Given the description of an element on the screen output the (x, y) to click on. 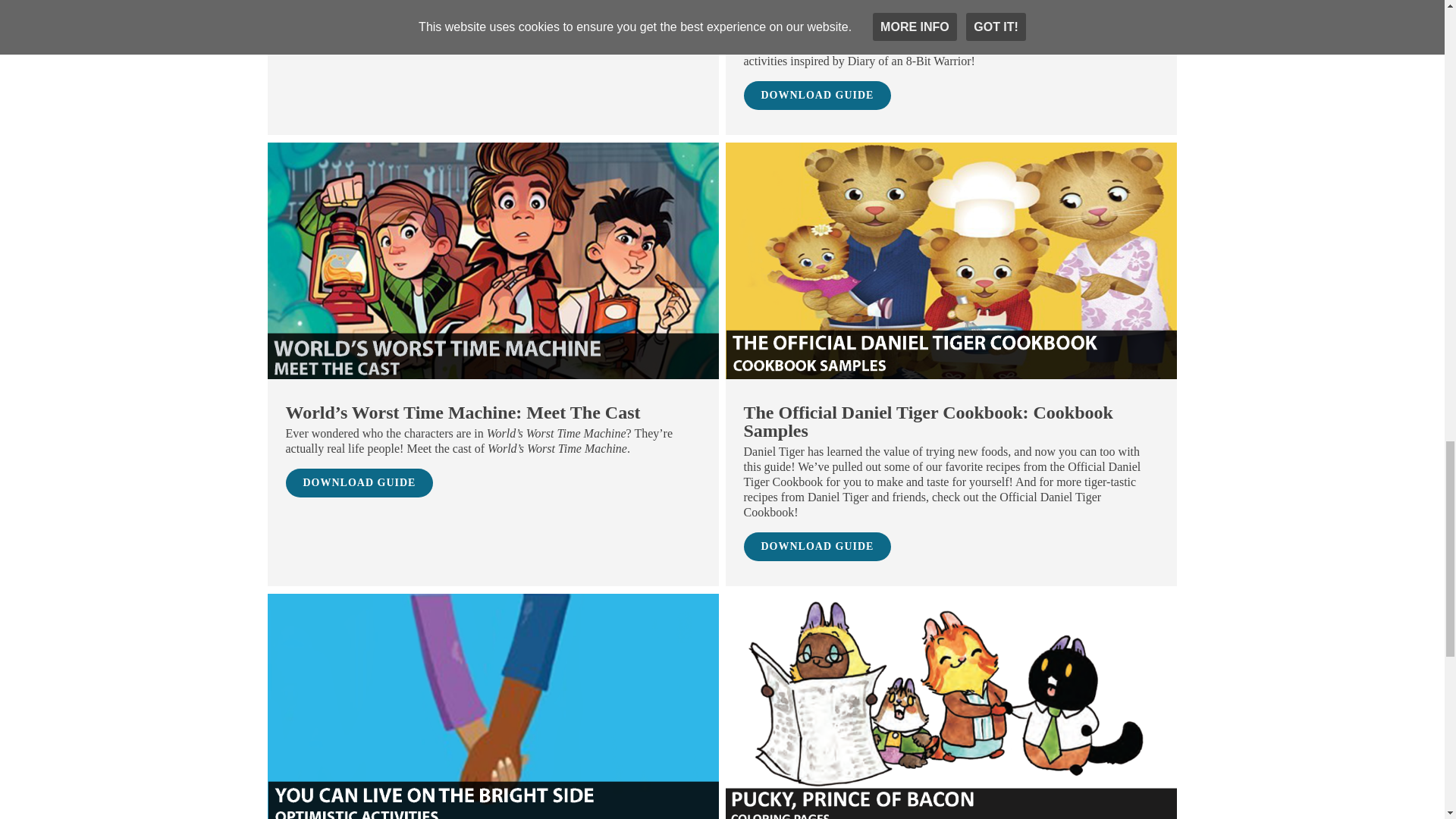
DOWNLOAD GUIDE (358, 482)
DOWNLOAD GUIDE (358, 35)
DOWNLOAD GUIDE (816, 95)
